Given the description of an element on the screen output the (x, y) to click on. 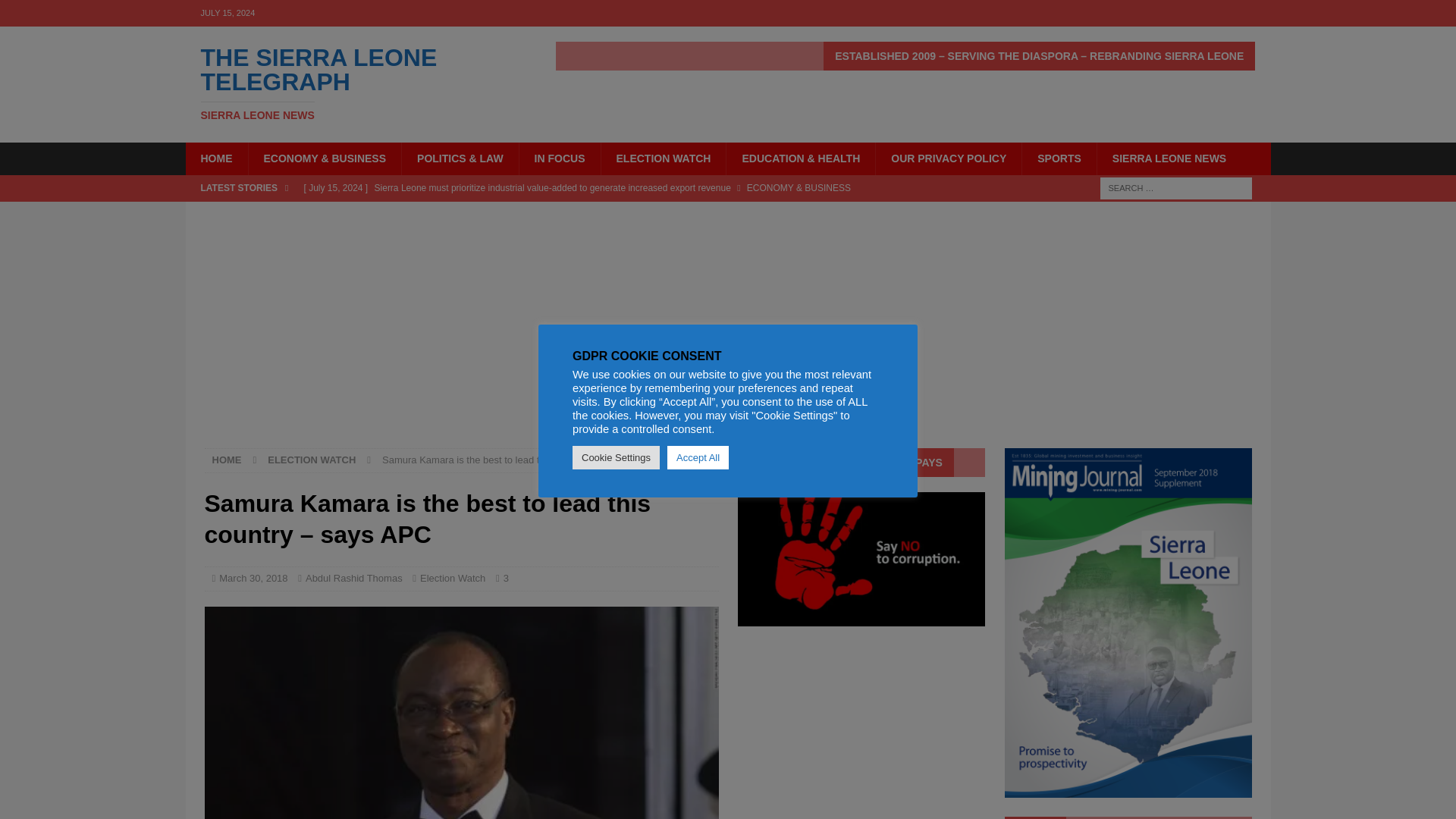
OUR PRIVACY POLICY (948, 158)
SPORTS (1059, 158)
The Sierra Leone Telegraph (356, 83)
HOME (226, 460)
March 30, 2018 (252, 577)
HOME (356, 83)
Donald Trump shot by an assassin at campaign rally (215, 158)
SAMURA KAMARA (592, 211)
Election Watch (462, 712)
IN FOCUS (452, 577)
Abdul Rashid Thomas (558, 158)
ELECTION WATCH (354, 577)
ELECTION WATCH (311, 460)
